Given the description of an element on the screen output the (x, y) to click on. 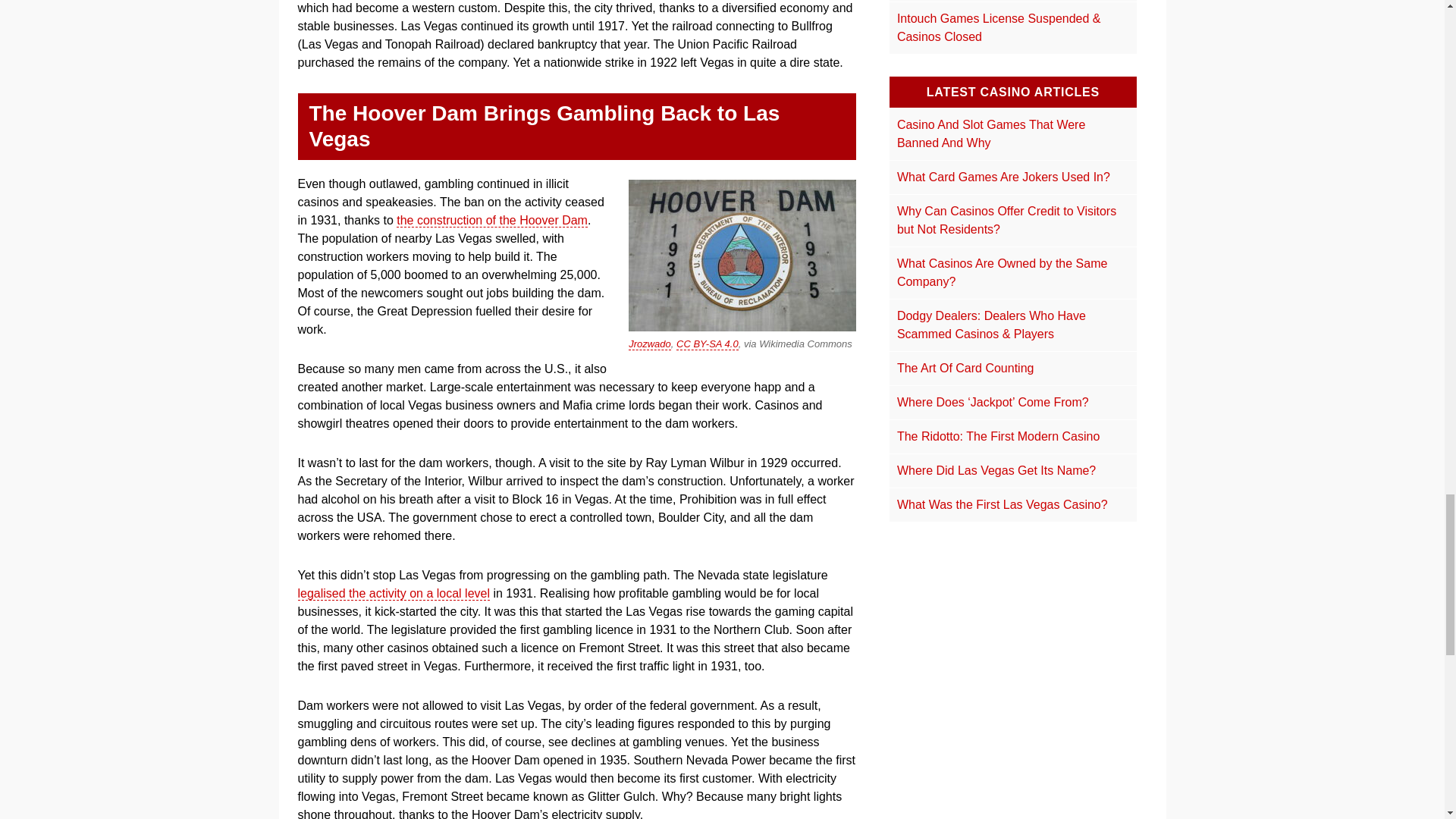
the construction of the Hoover Dam (492, 220)
Jrozwado (649, 344)
legalised the activity on a local level (393, 593)
CC BY-SA 4.0 (707, 344)
